Given the description of an element on the screen output the (x, y) to click on. 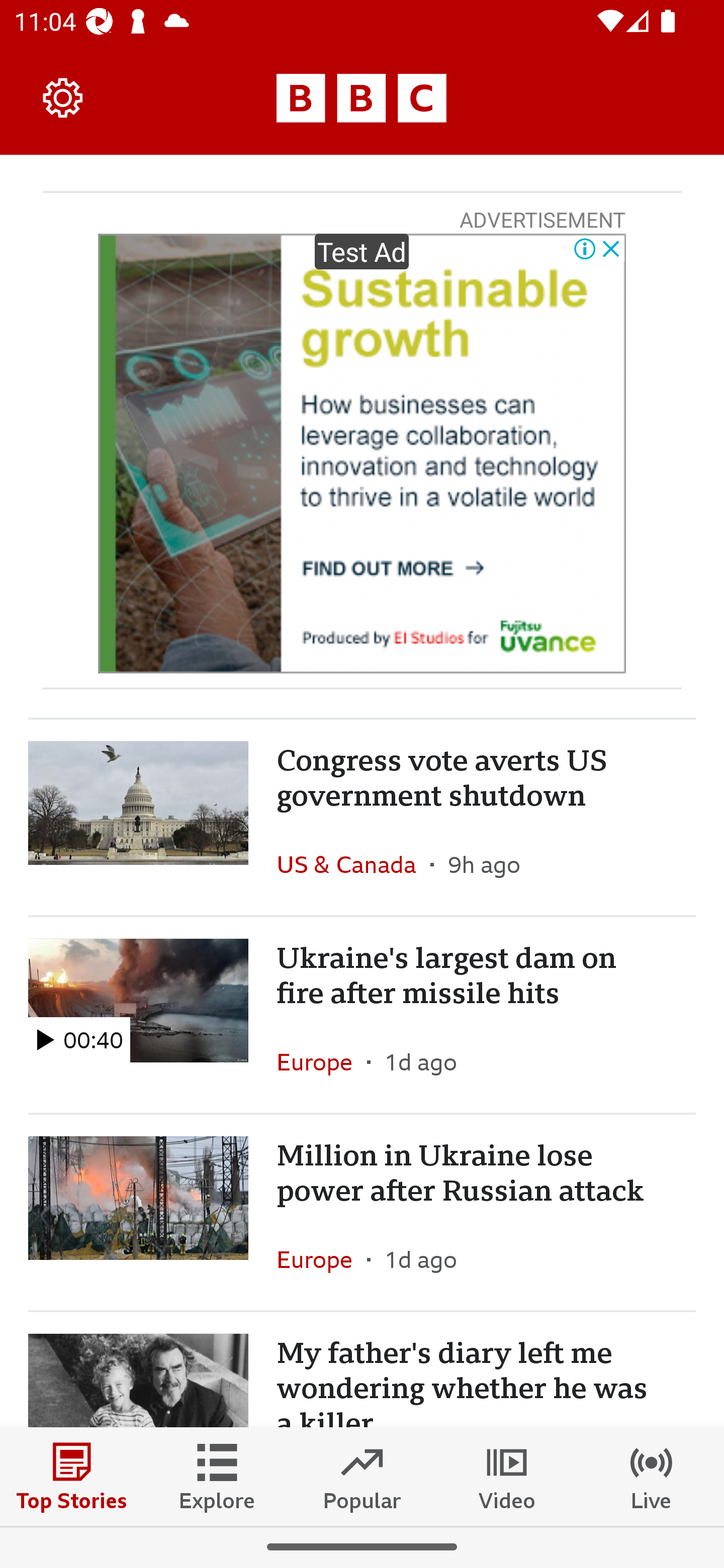
Settings (63, 97)
Advertisement (361, 453)
US & Canada In the section US & Canada (353, 864)
Europe In the section Europe (321, 1062)
Europe In the section Europe (321, 1259)
Explore (216, 1475)
Popular (361, 1475)
Video (506, 1475)
Live (651, 1475)
